Given the description of an element on the screen output the (x, y) to click on. 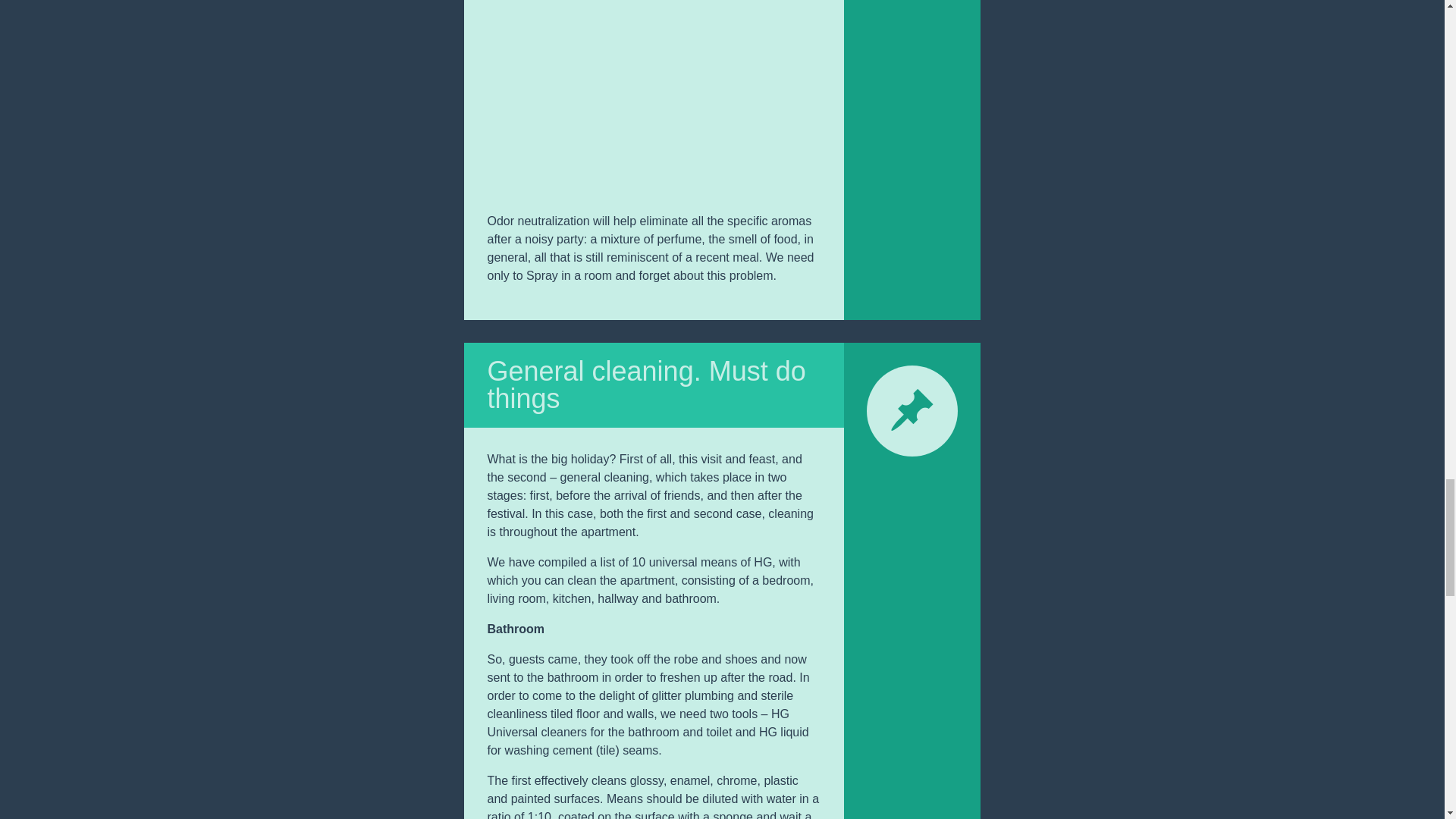
General cleaning. Must do things (645, 384)
